Given the description of an element on the screen output the (x, y) to click on. 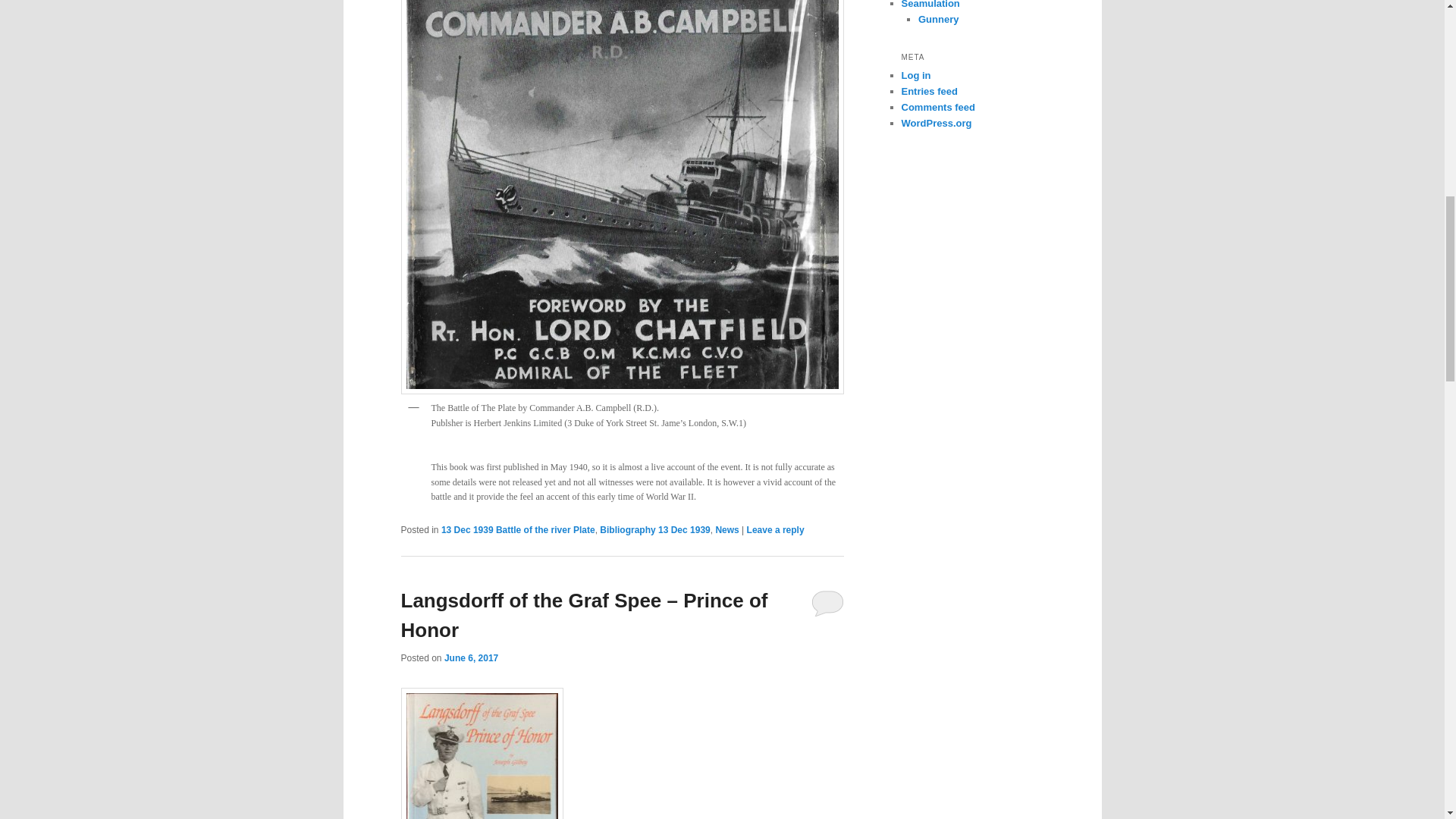
2:48 pm (470, 657)
News (726, 529)
Bibliography 13 Dec 1939 (654, 529)
June 6, 2017 (470, 657)
13 Dec 1939 Battle of the river Plate (518, 529)
Leave a reply (775, 529)
